Given the description of an element on the screen output the (x, y) to click on. 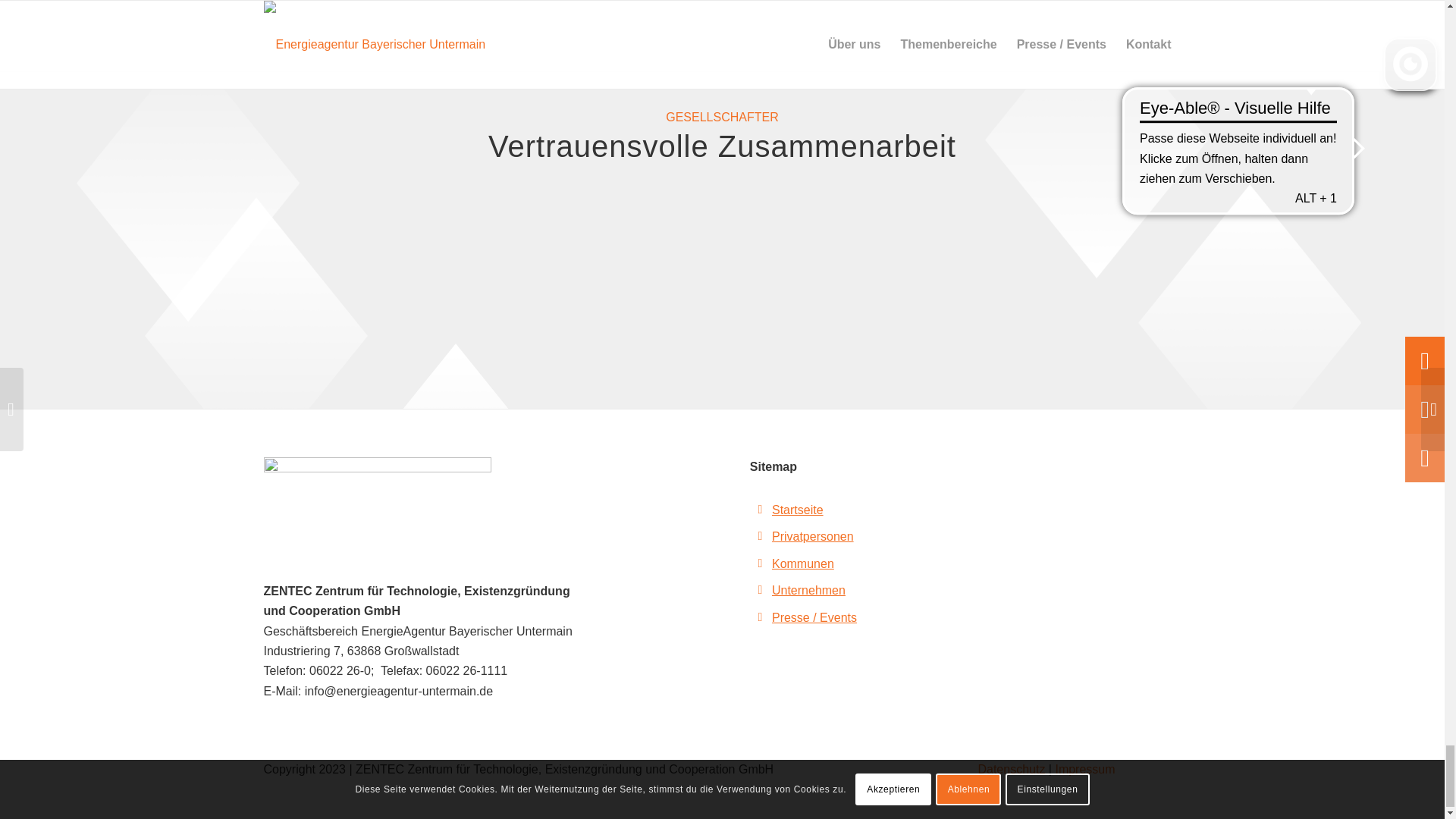
Unternehmen (808, 590)
Startseite  (797, 509)
Privatpersonen (812, 535)
Kommunen (802, 563)
